Given the description of an element on the screen output the (x, y) to click on. 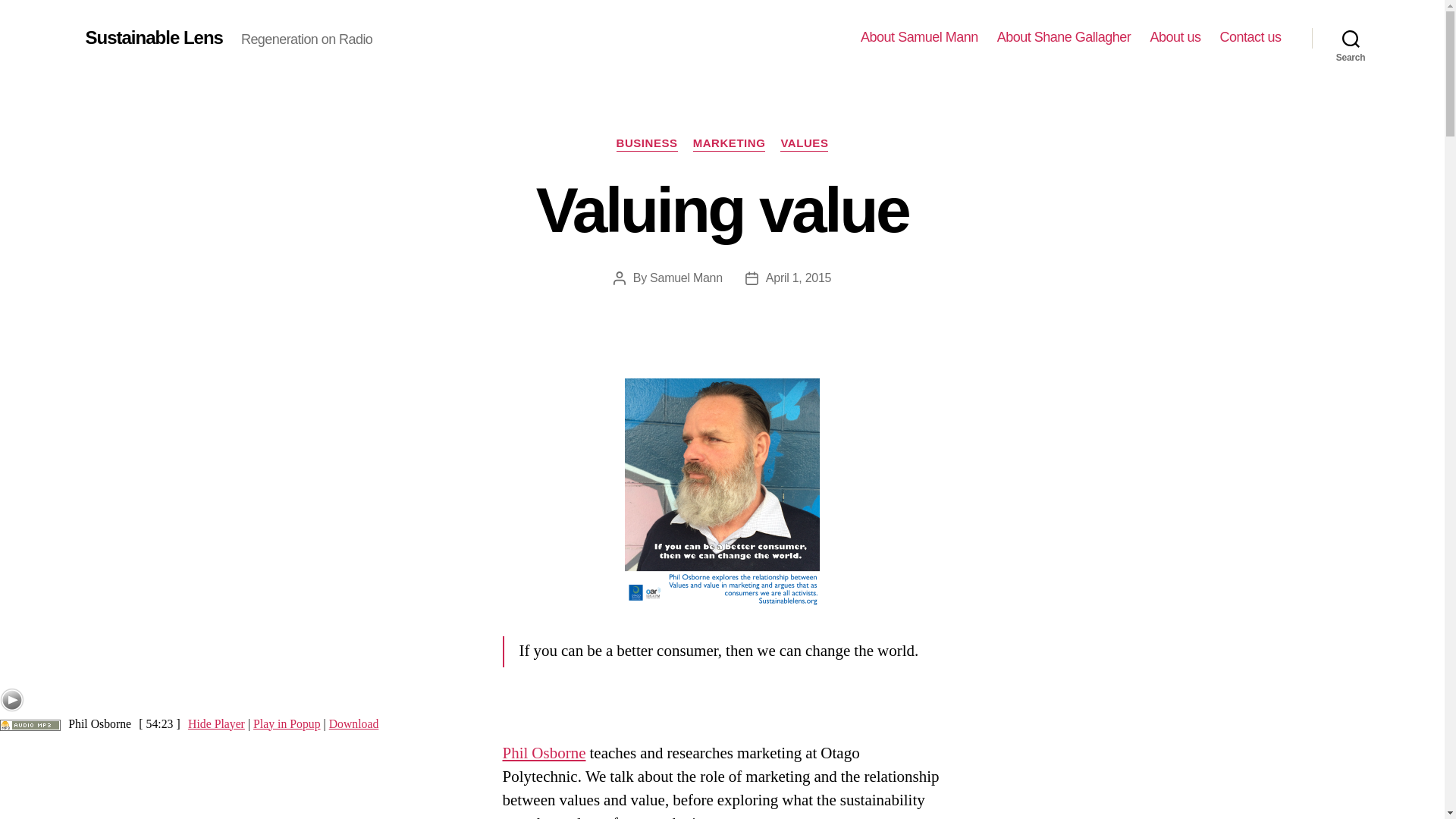
About Shane Gallagher (1064, 37)
April 1, 2015 (798, 277)
Download: Phil Osborne (30, 724)
Samuel Mann (685, 277)
Search (1350, 37)
Phil Osborne (543, 752)
Hide Player (215, 724)
Sustainable Lens (153, 37)
BUSINESS (646, 143)
MARKETING (729, 143)
Contact us (1250, 37)
Download (353, 724)
About us (1174, 37)
VALUES (804, 143)
About Samuel Mann (919, 37)
